Given the description of an element on the screen output the (x, y) to click on. 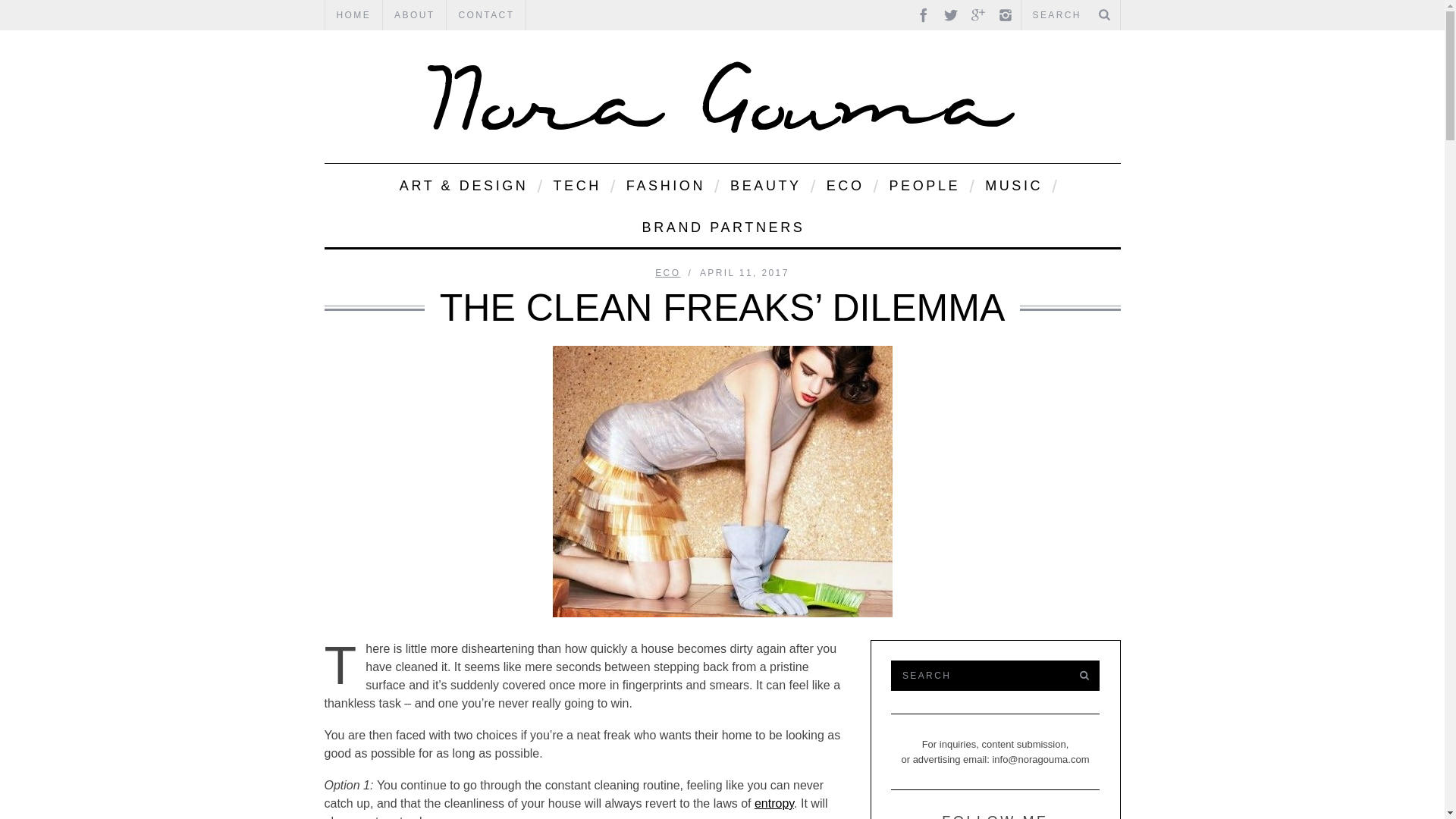
 -  (722, 96)
Search (1070, 15)
Search (976, 675)
